Given the description of an element on the screen output the (x, y) to click on. 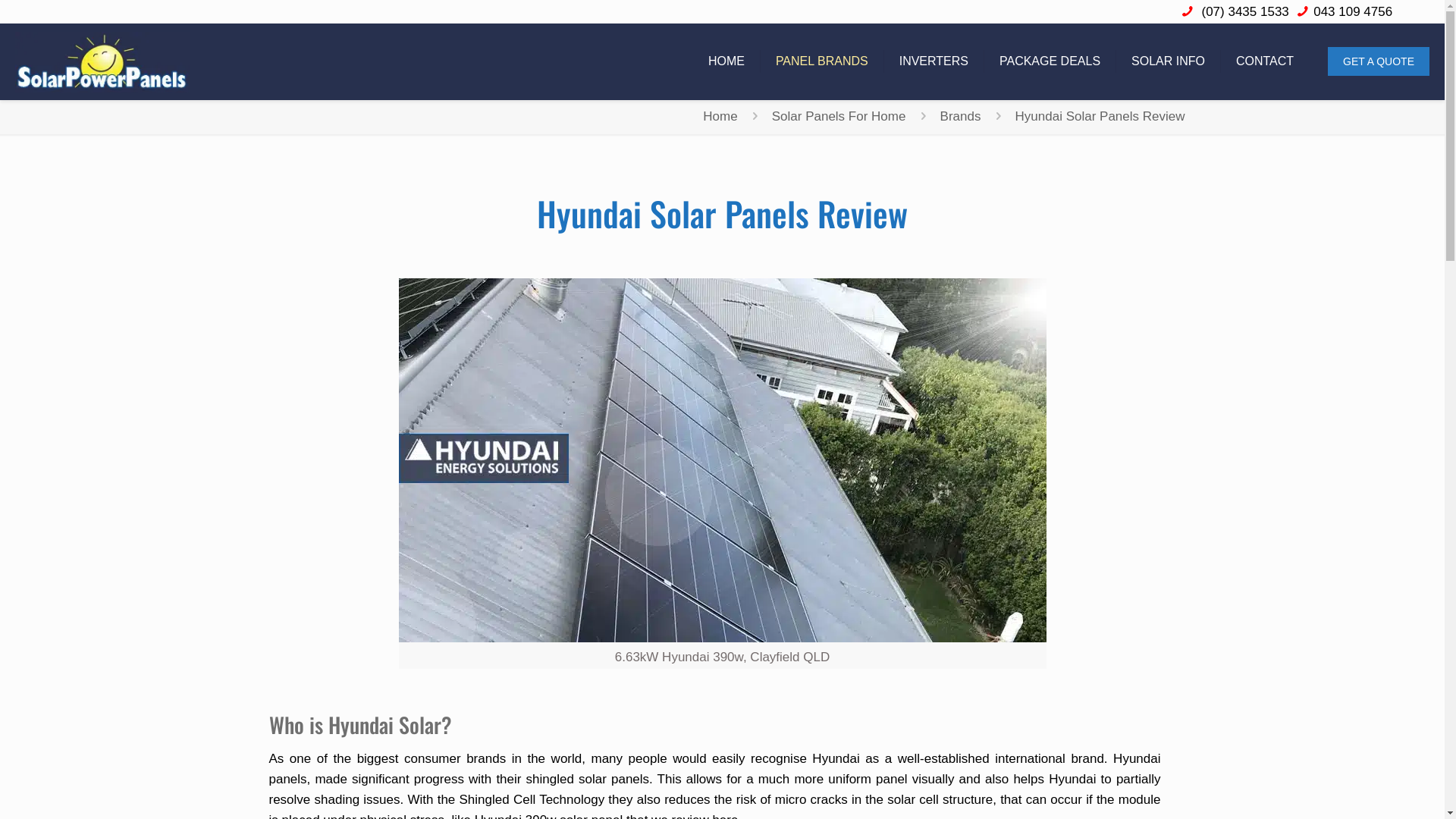
CONTACT Element type: text (1264, 61)
GET A QUOTE Element type: text (1378, 61)
Solar Power Panels Element type: hover (102, 61)
Home Element type: text (719, 116)
Solar Panels For Home Element type: text (838, 116)
PACKAGE DEALS Element type: text (1050, 61)
SOLAR INFO Element type: text (1168, 61)
PANEL BRANDS Element type: text (822, 61)
Hyundai Solar Panels Review Element type: text (1100, 116)
HOME Element type: text (726, 61)
Brands Element type: text (960, 116)
(07) 3435 1533 Element type: text (1243, 11)
043 109 4756 Element type: text (1352, 11)
INVERTERS Element type: text (934, 61)
